Given the description of an element on the screen output the (x, y) to click on. 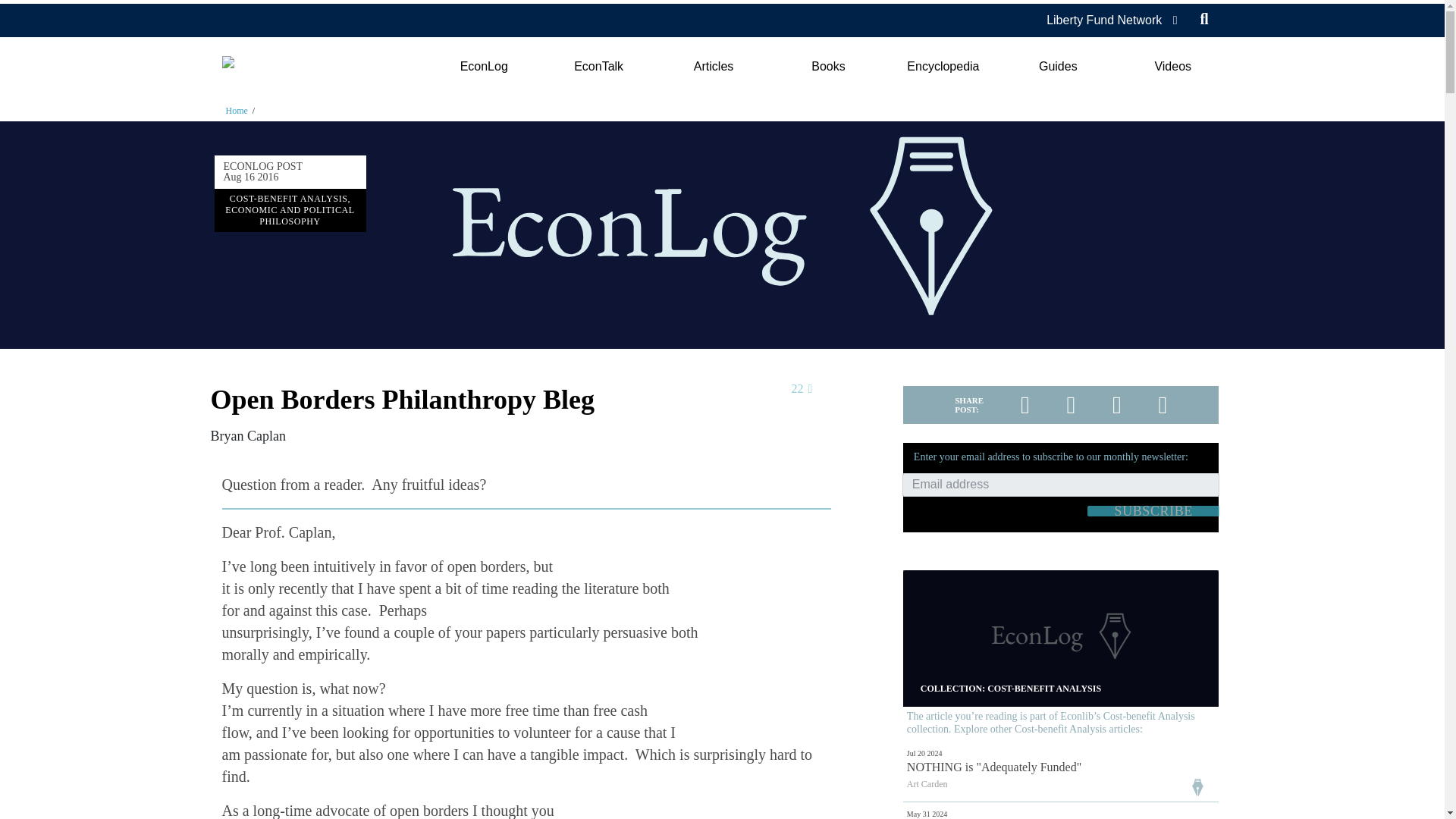
EconLog (483, 66)
Subscribe (1153, 511)
Books (828, 66)
Encyclopedia (942, 66)
Bryan Caplan (248, 435)
EconTalk (598, 66)
Articles (713, 66)
Liberty Fund Network (1104, 20)
